Given the description of an element on the screen output the (x, y) to click on. 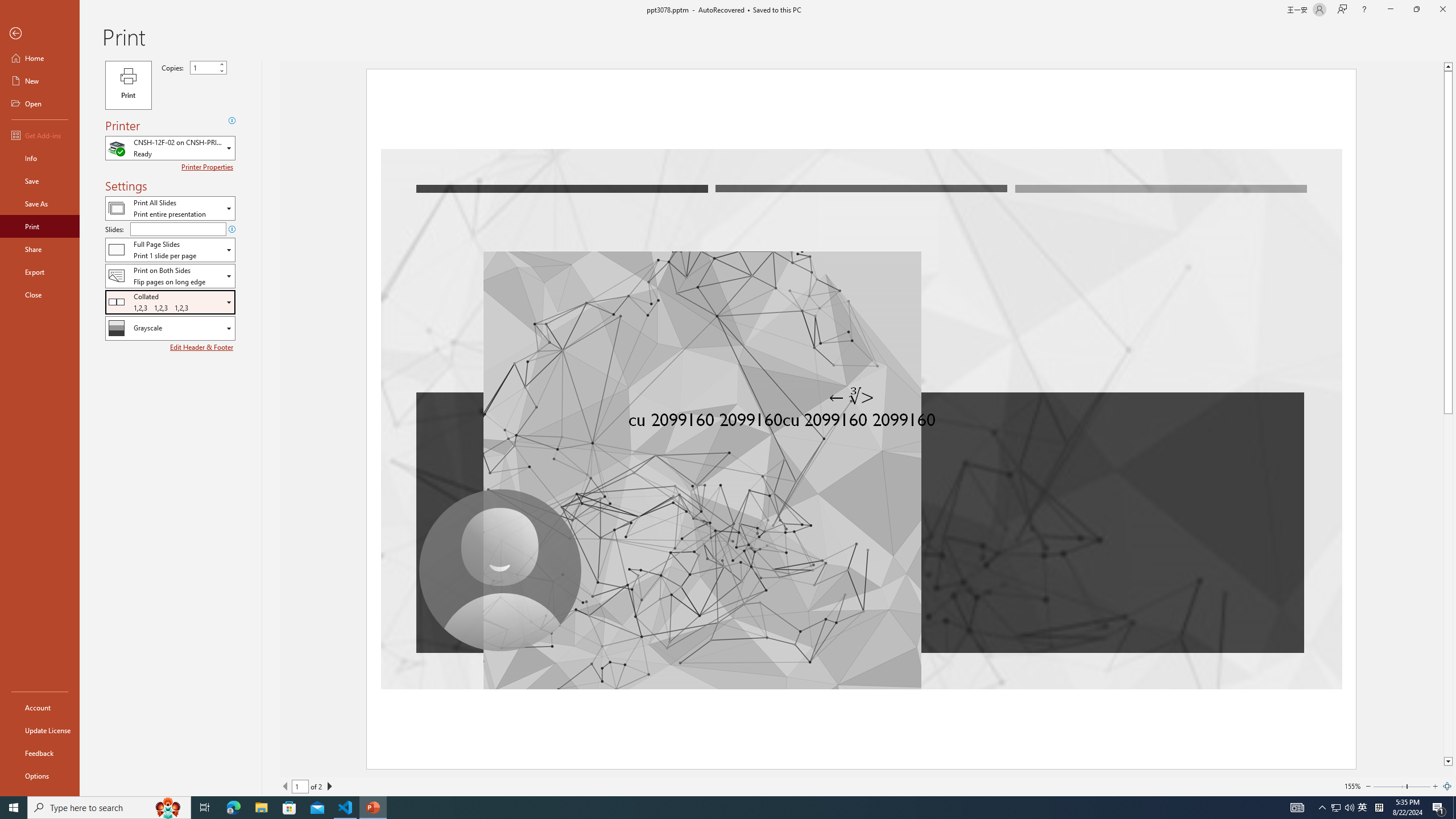
Which Printer (169, 147)
Slides and Handouts (169, 249)
Zoom to Page (1447, 786)
New (40, 80)
Feedback (40, 753)
Next Page (328, 786)
